Given the description of an element on the screen output the (x, y) to click on. 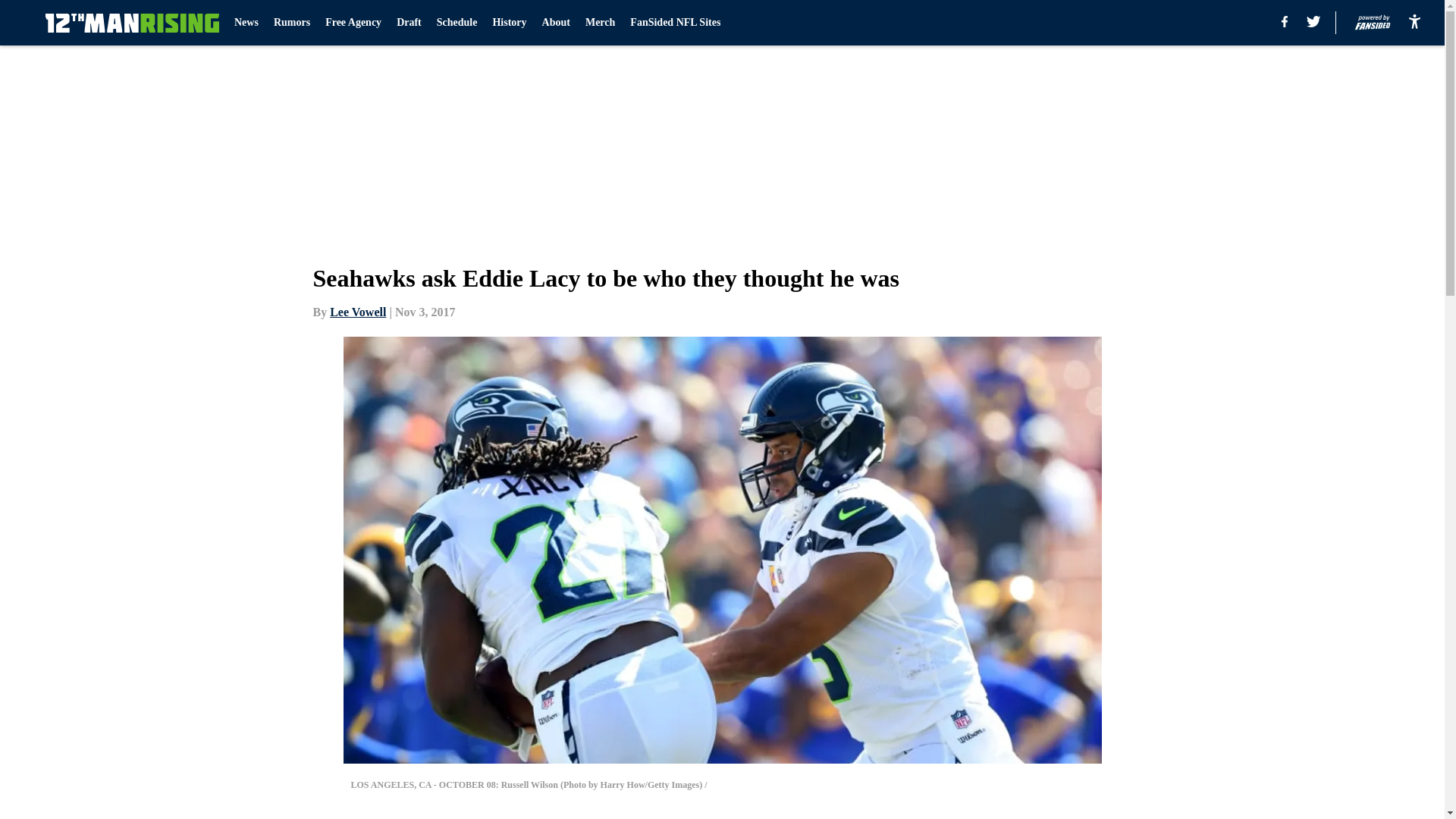
Rumors (291, 22)
FanSided NFL Sites (675, 22)
Schedule (456, 22)
History (508, 22)
Lee Vowell (357, 311)
Merch (599, 22)
About (555, 22)
News (246, 22)
Free Agency (352, 22)
Draft (409, 22)
